Given the description of an element on the screen output the (x, y) to click on. 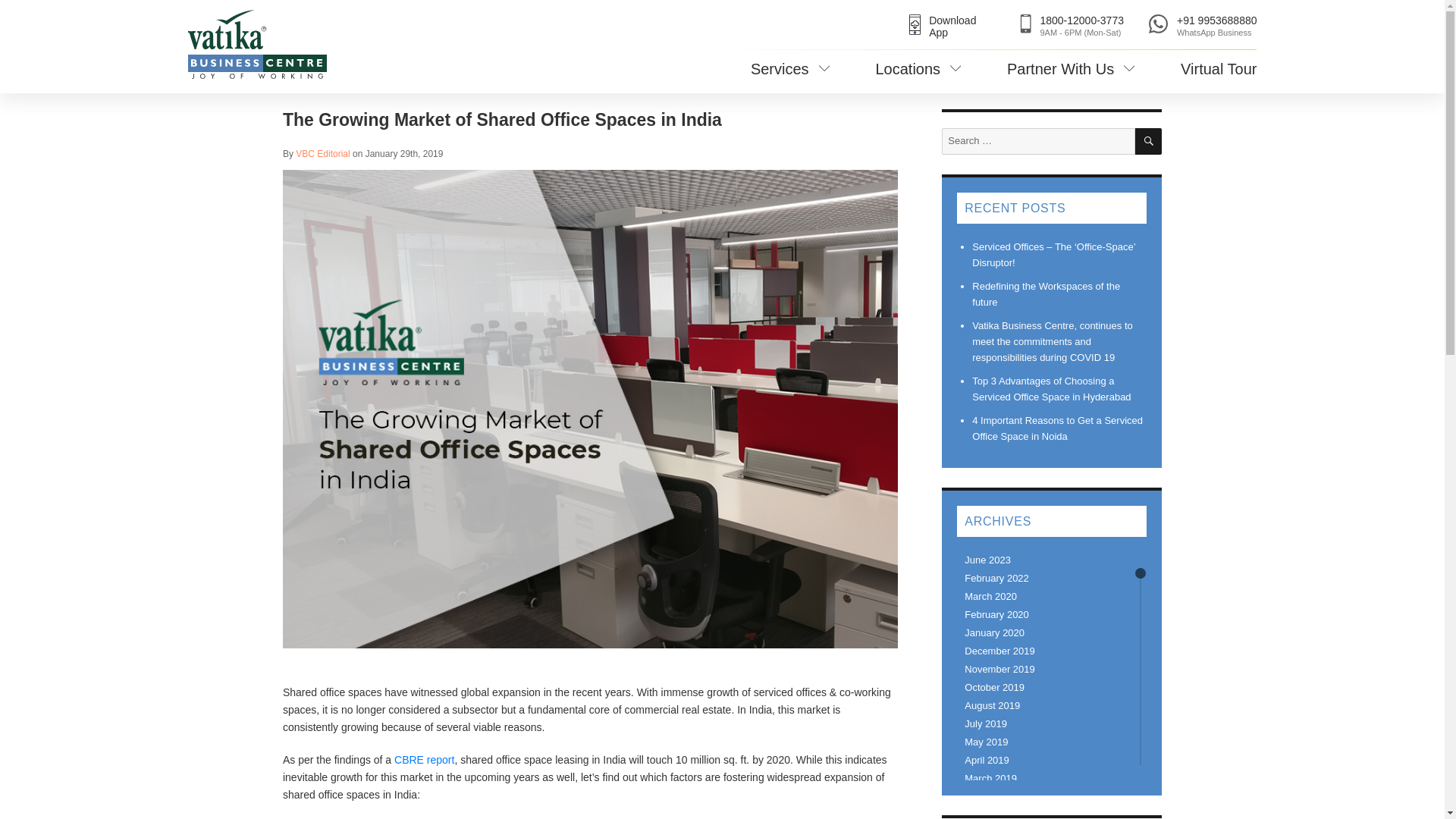
Posts by VBC Editorial (322, 153)
Services (790, 74)
Partner With Us (1070, 74)
Locations (947, 26)
